Given the description of an element on the screen output the (x, y) to click on. 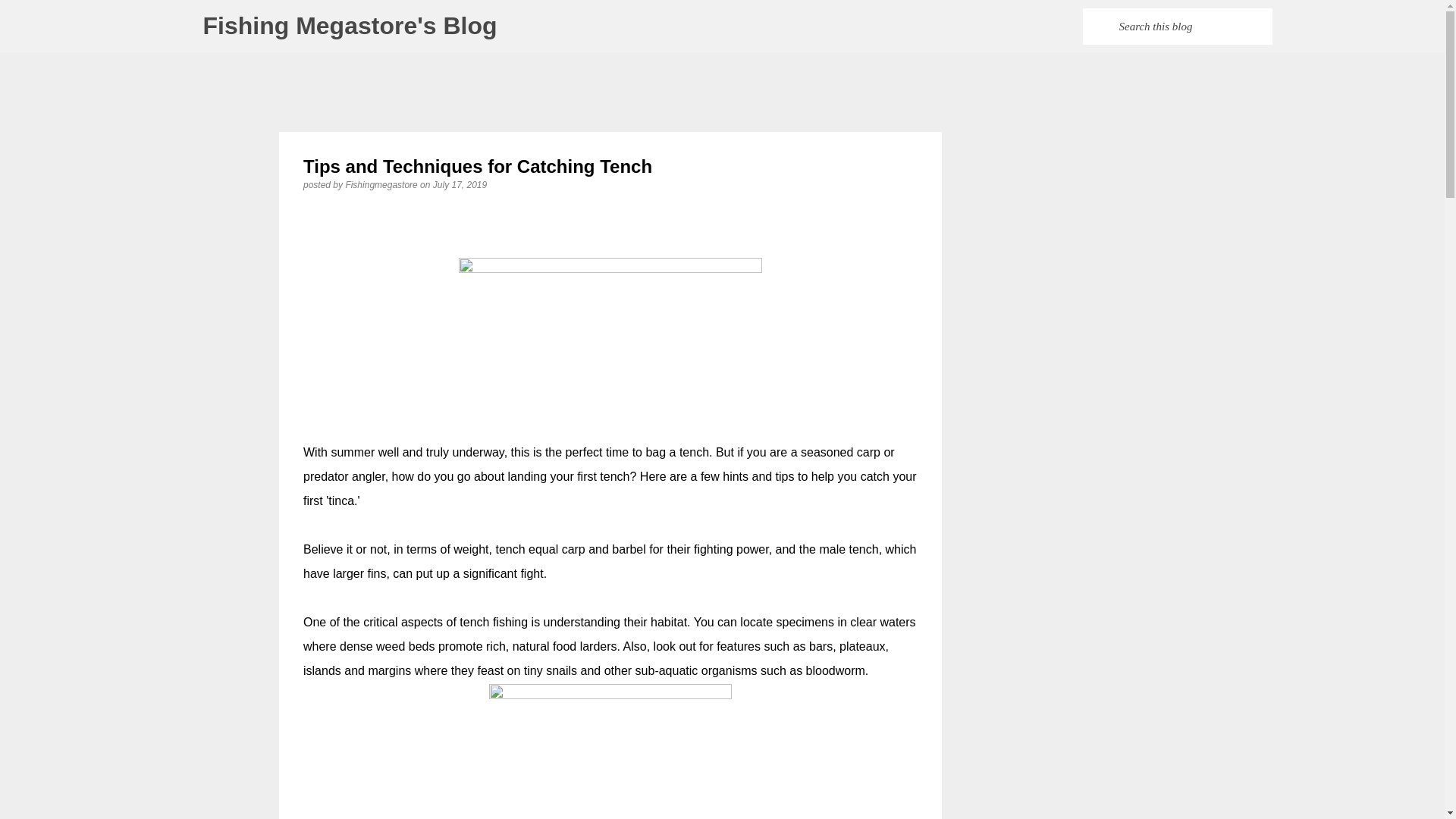
July 17, 2019 (459, 184)
permanent link (459, 184)
Fishing Megastore's Blog (350, 25)
Fishingmegastore (382, 184)
author profile (382, 184)
